Given the description of an element on the screen output the (x, y) to click on. 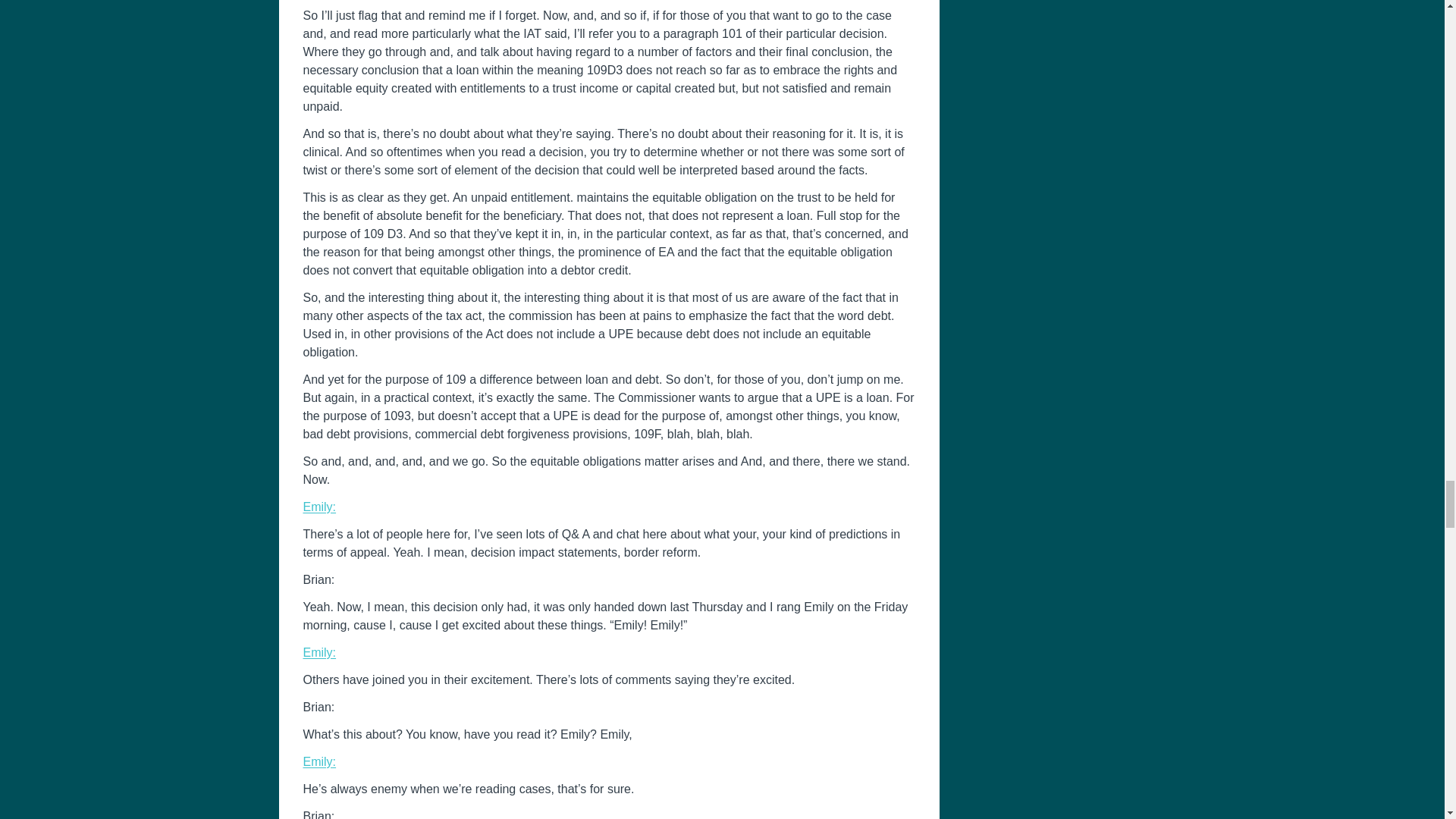
Emily: (319, 761)
Emily: (319, 652)
Emily: (319, 506)
